Given the description of an element on the screen output the (x, y) to click on. 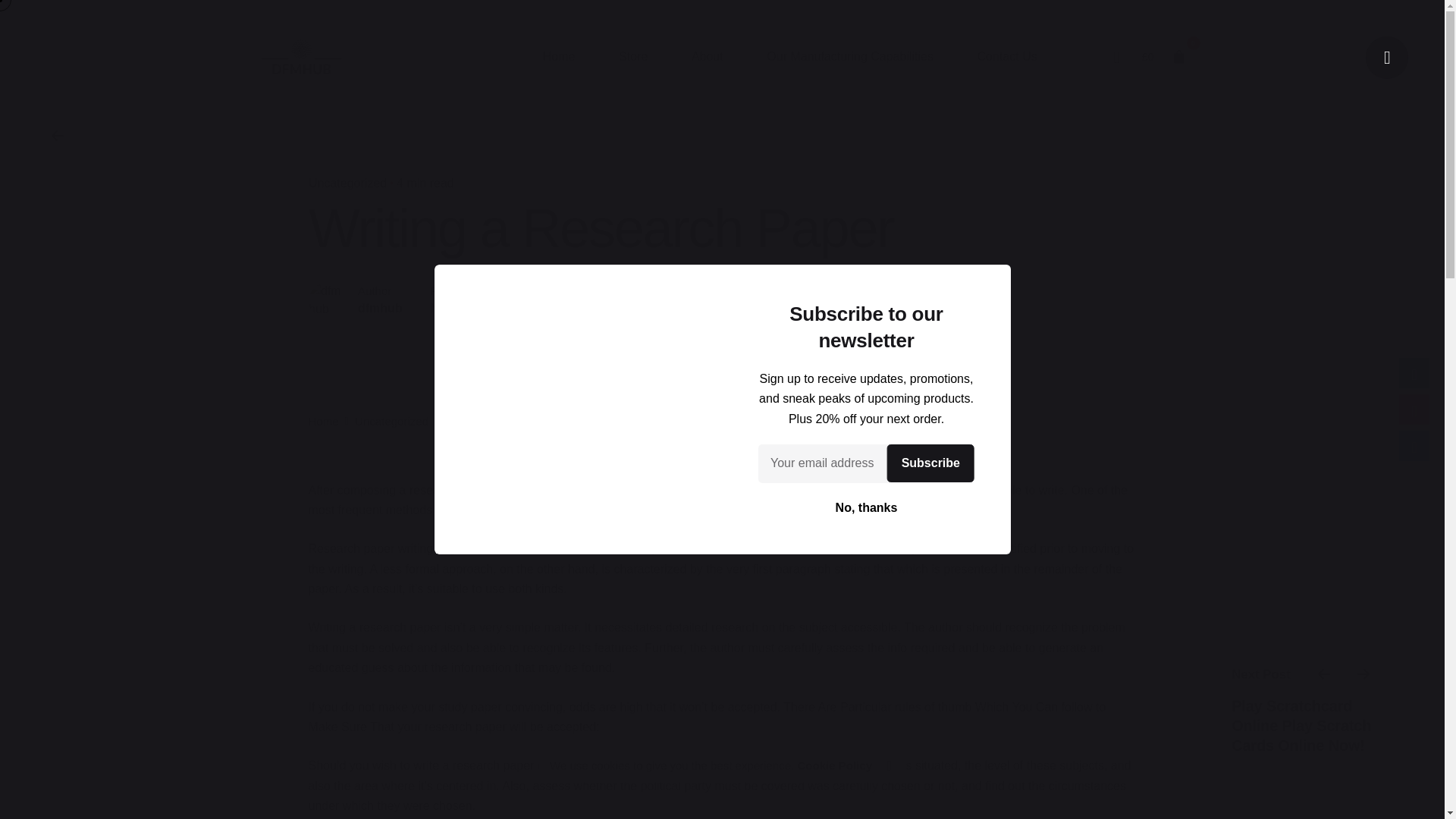
Our Manufacturing Capabilities (849, 57)
Store (632, 57)
Contact Us (1007, 57)
About (706, 57)
Play Scratchcard Online Play Scratch Cards Online Now! (1305, 725)
Home (322, 420)
0 (1178, 57)
Uncategorized (346, 182)
Home (558, 57)
Uncategorized (391, 420)
